Given the description of an element on the screen output the (x, y) to click on. 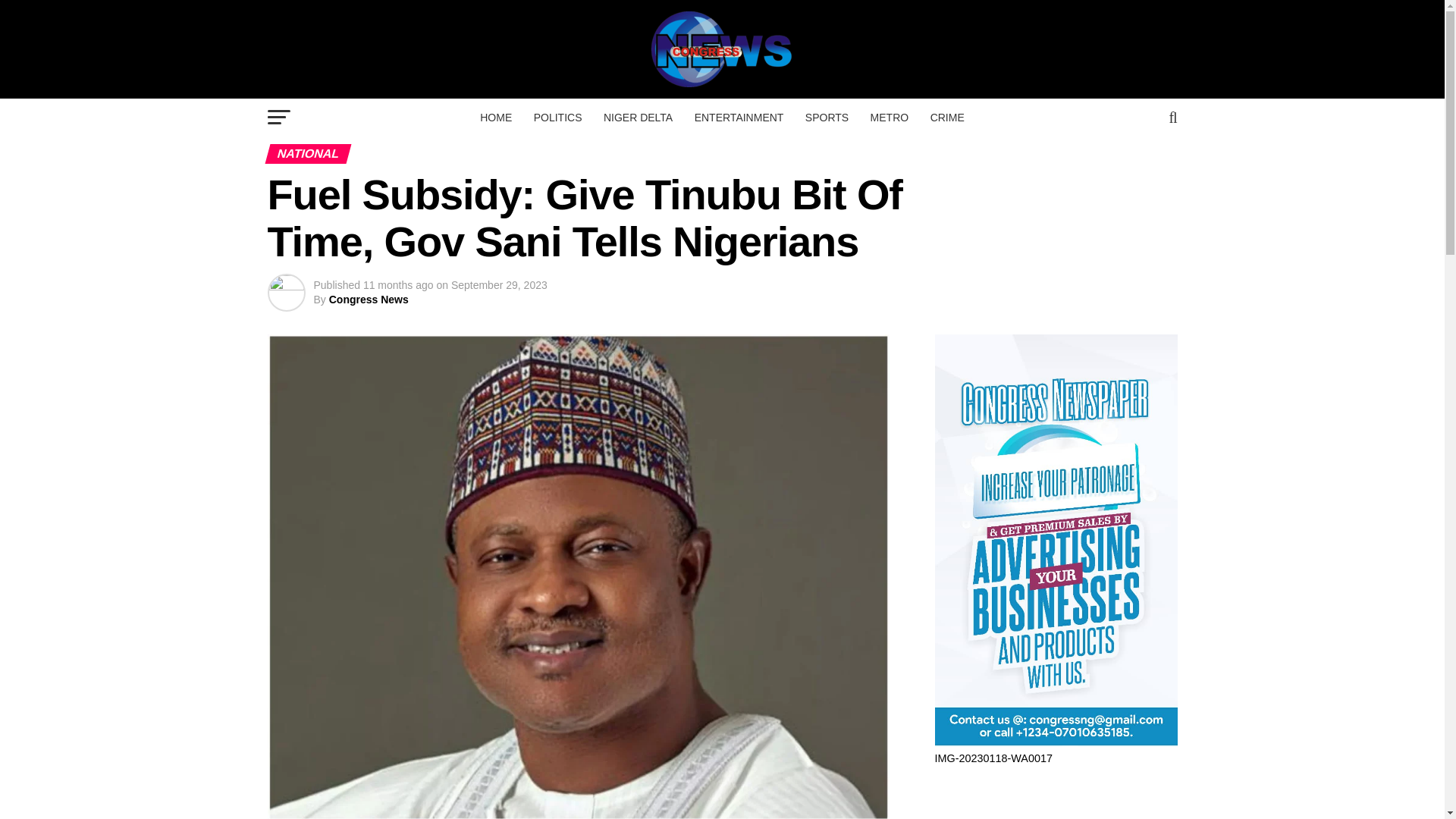
HOME (495, 117)
NIGER DELTA (637, 117)
METRO (889, 117)
POLITICS (557, 117)
Posts by Congress News (369, 299)
ENTERTAINMENT (739, 117)
SPORTS (826, 117)
